Given the description of an element on the screen output the (x, y) to click on. 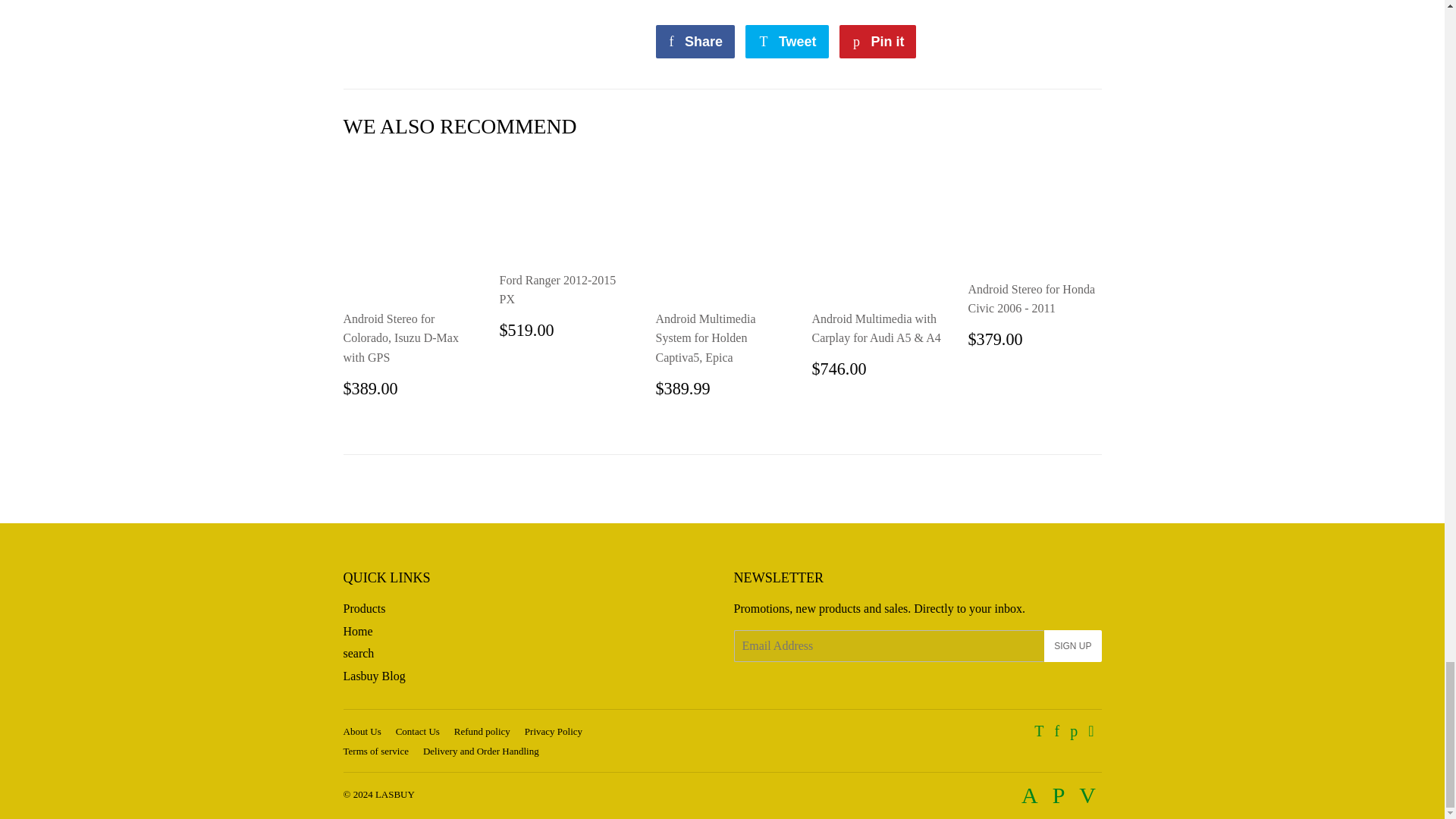
Share on Facebook (694, 41)
Tweet on Twitter (786, 41)
Pin on Pinterest (877, 41)
